Given the description of an element on the screen output the (x, y) to click on. 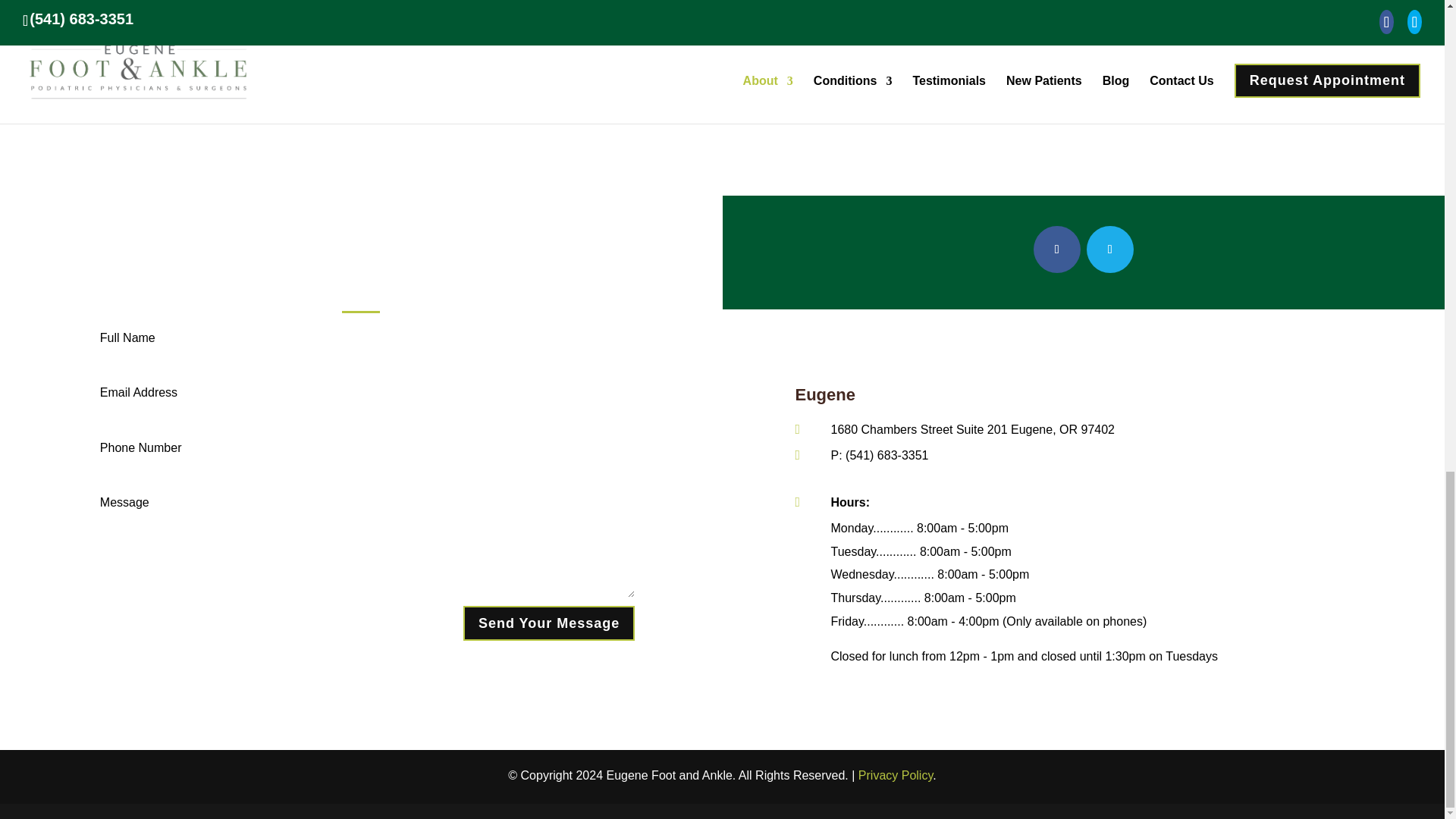
Send Your Message (548, 622)
Follow on Facebook (1056, 249)
Request Appointment (644, 94)
Follow on X (1110, 249)
1680 Chambers Street Suite 201 Eugene, OR 97402 (973, 429)
